Given the description of an element on the screen output the (x, y) to click on. 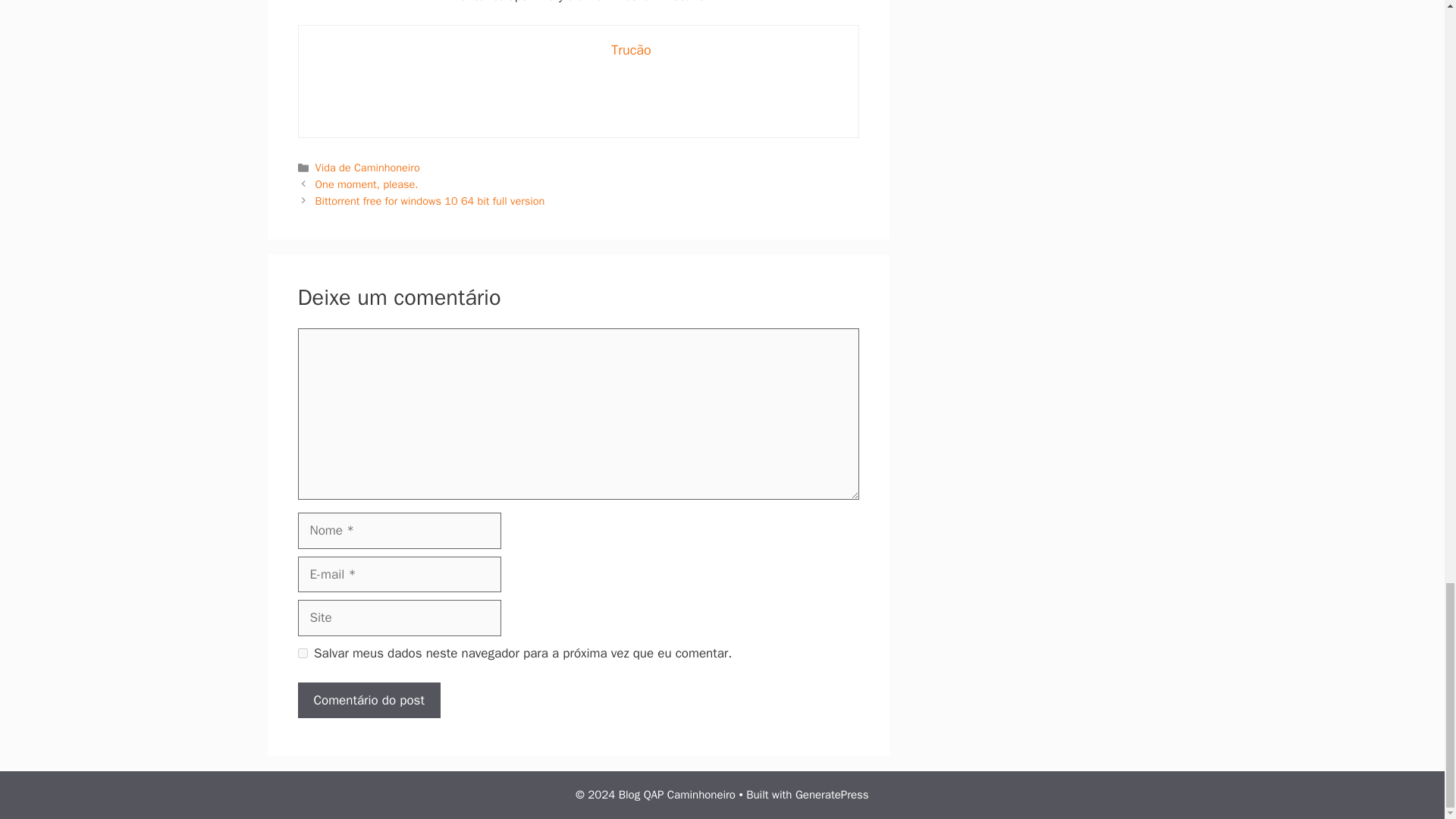
yes (302, 653)
Vida de Caminhoneiro (367, 167)
Bittorrent free for windows 10 64 bit full version (429, 200)
GeneratePress (831, 794)
Anterior (367, 183)
One moment, please. (367, 183)
